Given the description of an element on the screen output the (x, y) to click on. 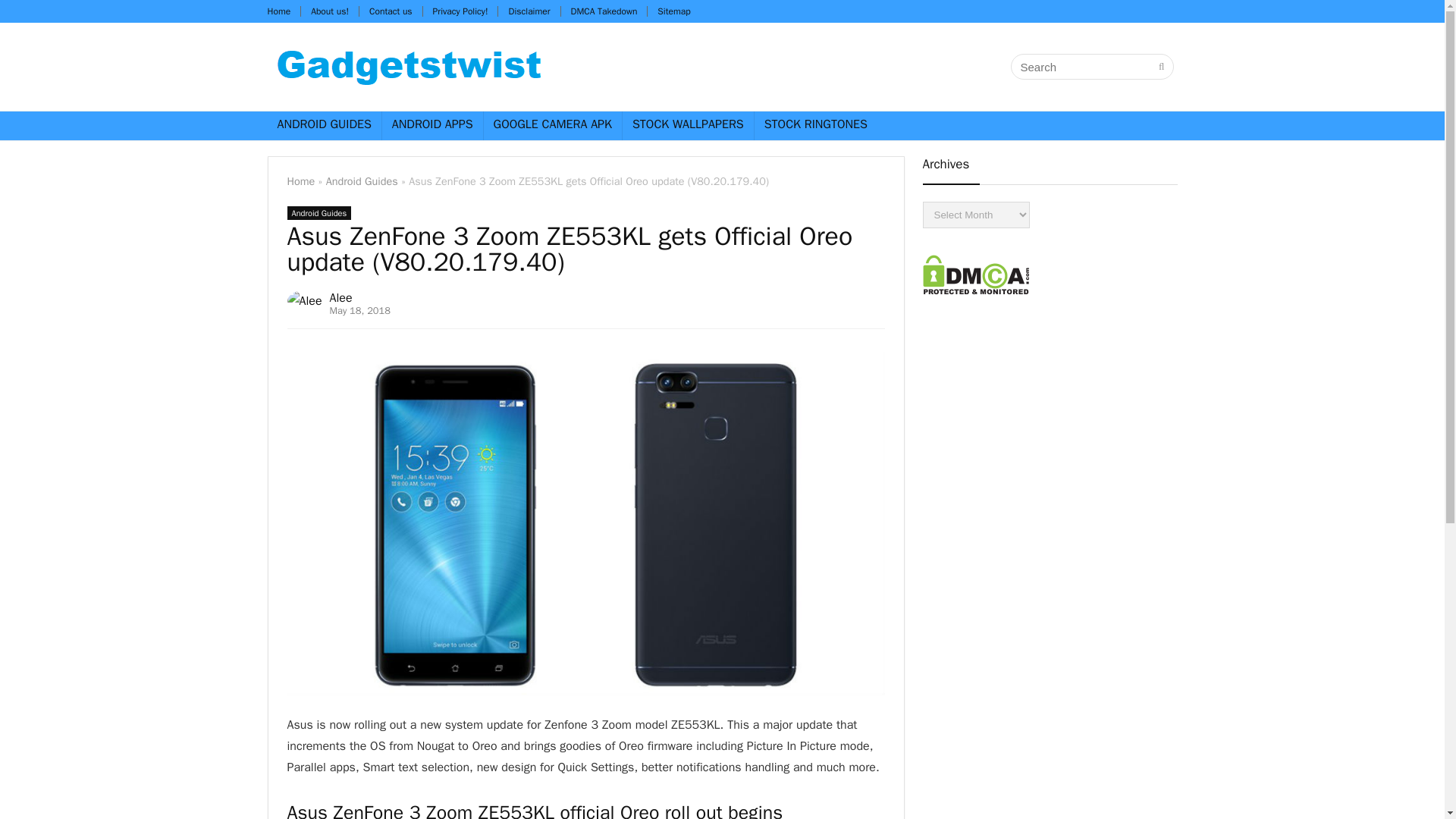
Home (277, 10)
ANDROID APPS (432, 125)
Disclaimer (529, 10)
Contact us (390, 10)
Privacy Policy! (459, 10)
DMCA Takedown (603, 10)
Android Guides (361, 181)
DMCA.com Protection Status (975, 261)
Alee (341, 297)
Android Guides (318, 213)
